Given the description of an element on the screen output the (x, y) to click on. 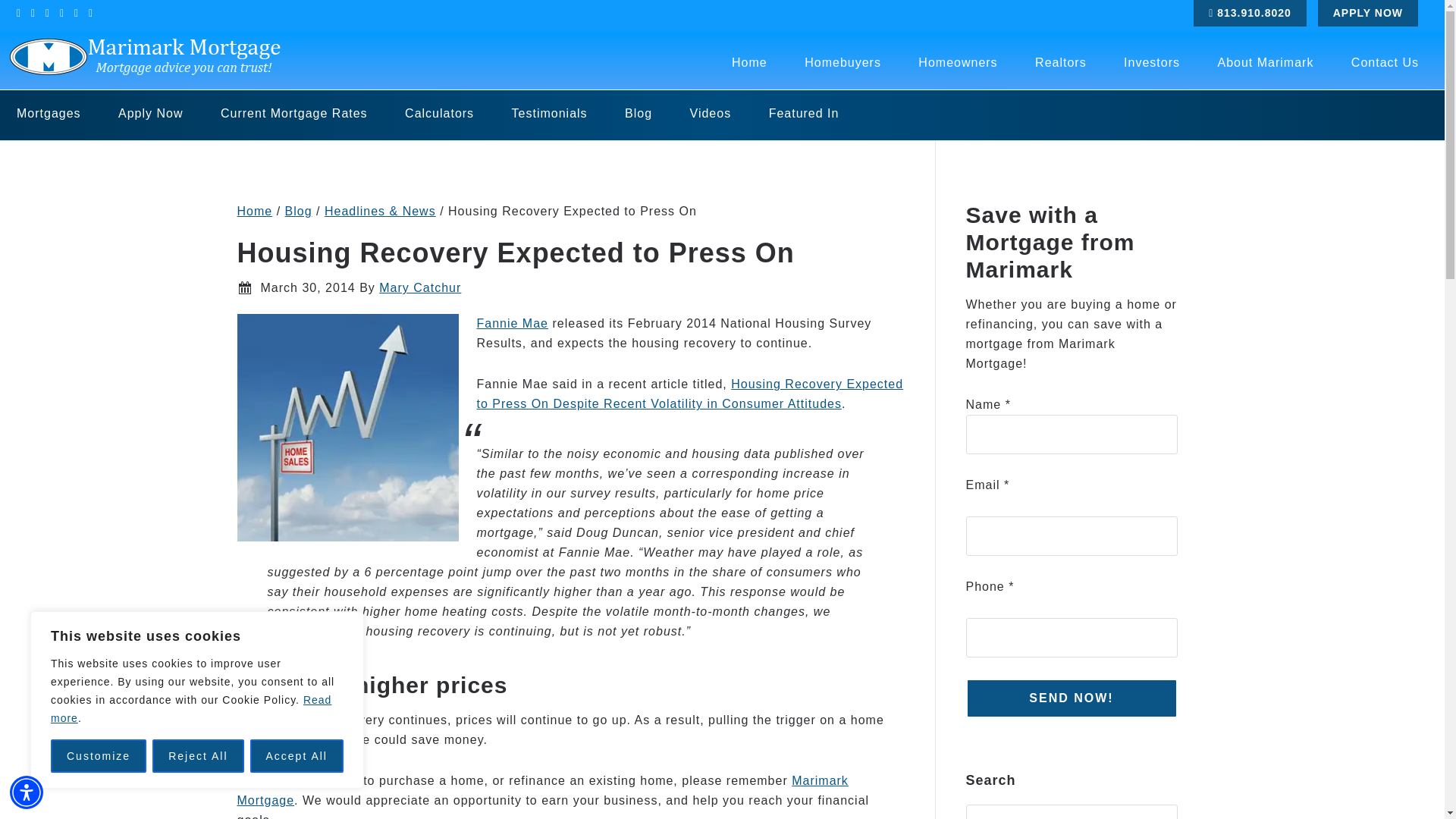
Fannie Mae Housing Recovery (346, 427)
Apply Now (150, 113)
APPLY NOW (1367, 13)
Accept All (296, 756)
About Marimark (1264, 62)
813.910.8020 (1249, 13)
Investors (1151, 62)
Home (749, 62)
Marimark Mortgage (541, 789)
Blog (299, 210)
Accessibility Menu (26, 792)
Featured In (804, 113)
Homeowners (957, 62)
Videos (710, 113)
